Given the description of an element on the screen output the (x, y) to click on. 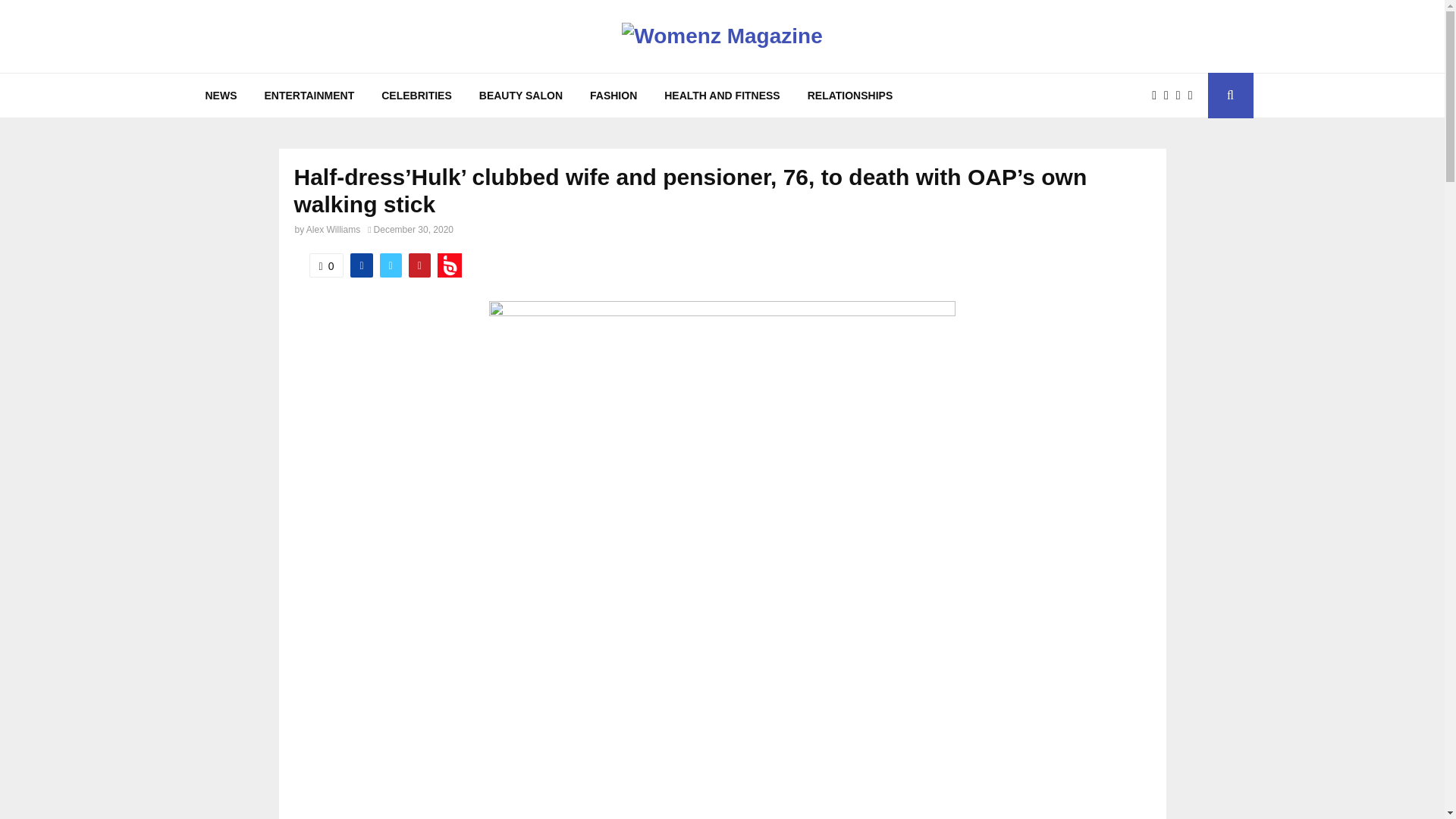
Like (325, 265)
CELEBRITIES (416, 94)
BEAUTY SALON (520, 94)
RELATIONSHIPS (850, 94)
NEWS (220, 94)
Alex Williams (332, 229)
0 (325, 265)
FASHION (613, 94)
ENTERTAINMENT (309, 94)
HEALTH AND FITNESS (721, 94)
